Given the description of an element on the screen output the (x, y) to click on. 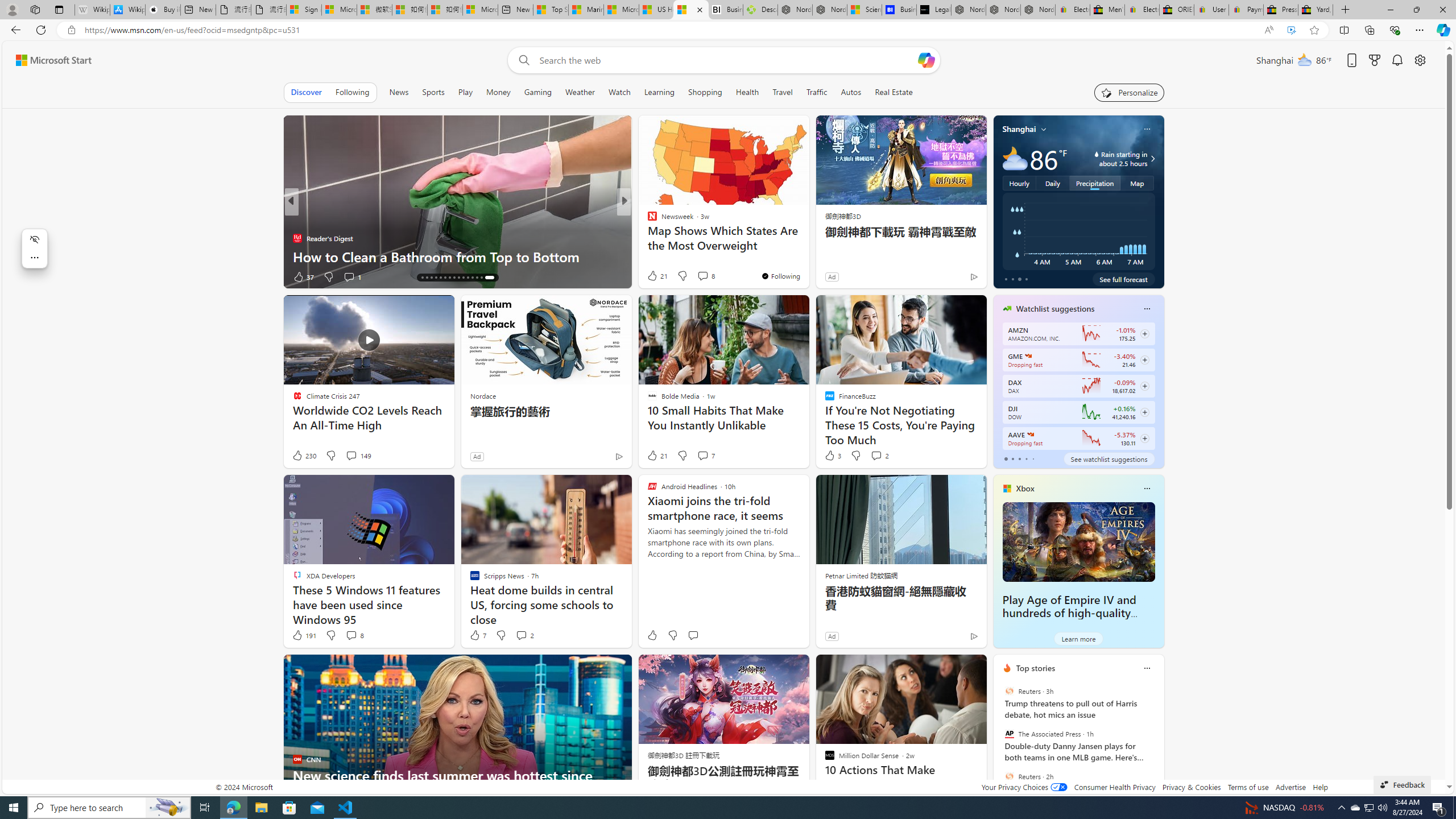
Press Room - eBay Inc. (1280, 9)
View comments 149 Comment (357, 455)
View comments 3 Comment (702, 276)
Play (465, 92)
Watch (619, 92)
Your Privacy Choices (1024, 786)
Autos (850, 92)
AutomationID: tab-19 (442, 277)
16 Like (652, 276)
Traffic (816, 92)
Help (1320, 786)
